Given the description of an element on the screen output the (x, y) to click on. 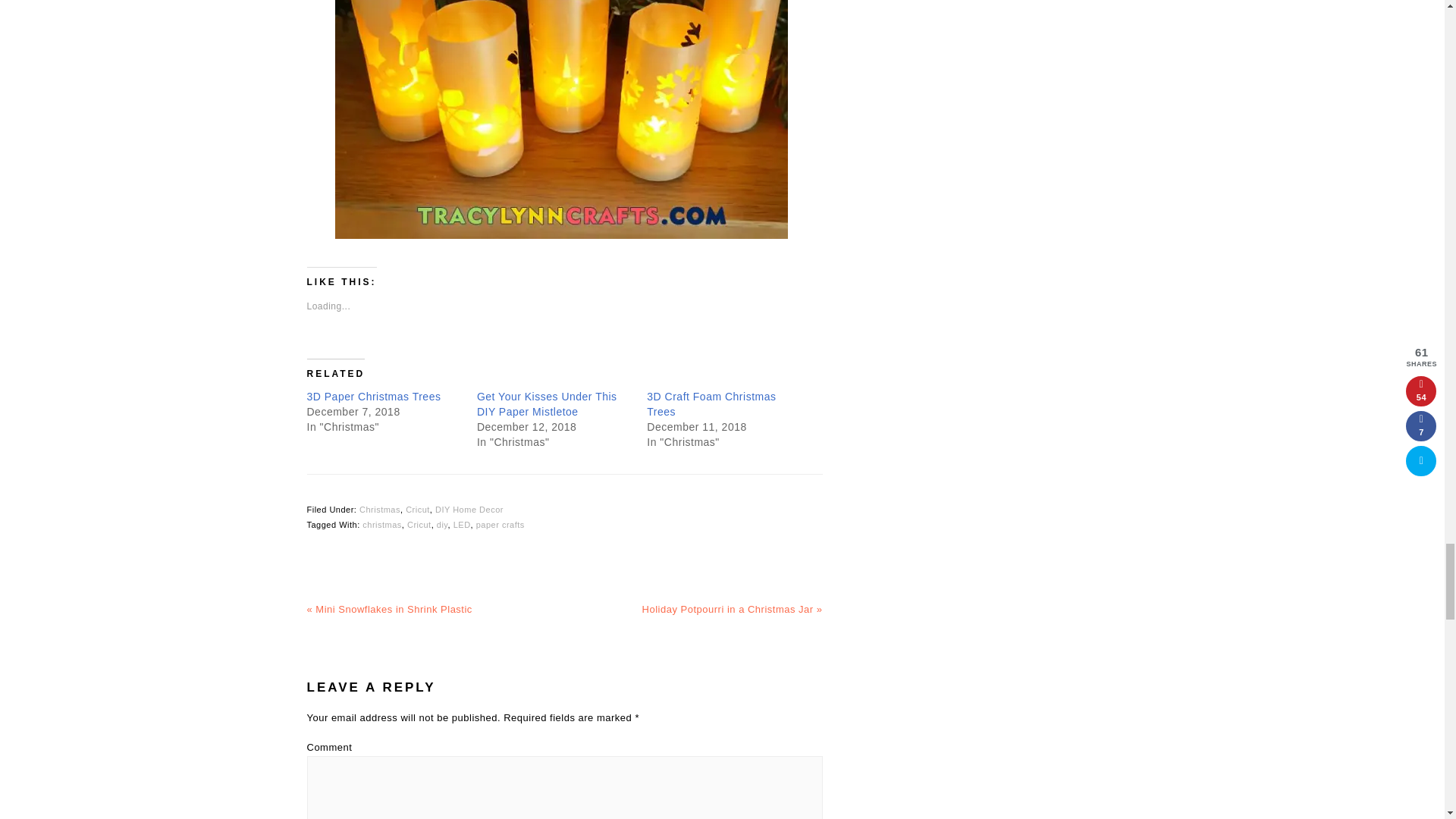
3D Craft Foam Christmas Trees (711, 403)
Christmas (379, 509)
Get Your Kisses Under This DIY Paper Mistletoe (547, 403)
3D Craft Foam Christmas Trees (711, 403)
3D Paper Christmas Trees (373, 396)
Cricut (417, 509)
LED (461, 524)
Cricut (418, 524)
diy (442, 524)
3D Paper Christmas Trees (373, 396)
